Given the description of an element on the screen output the (x, y) to click on. 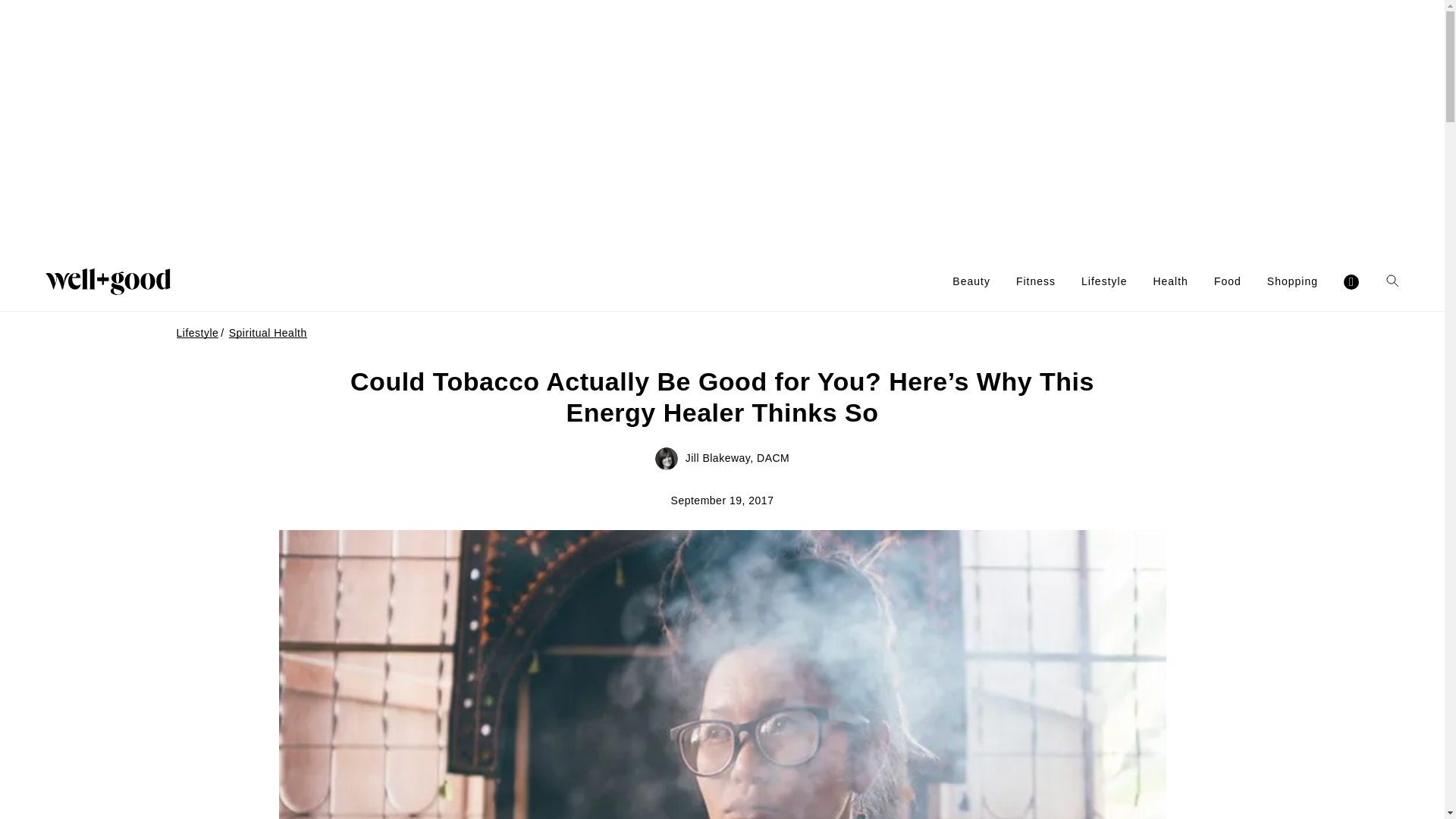
Food (1227, 281)
Shopping (1291, 281)
Lifestyle (1103, 281)
Beauty (971, 281)
Fitness (1035, 281)
Health (1170, 281)
